Given the description of an element on the screen output the (x, y) to click on. 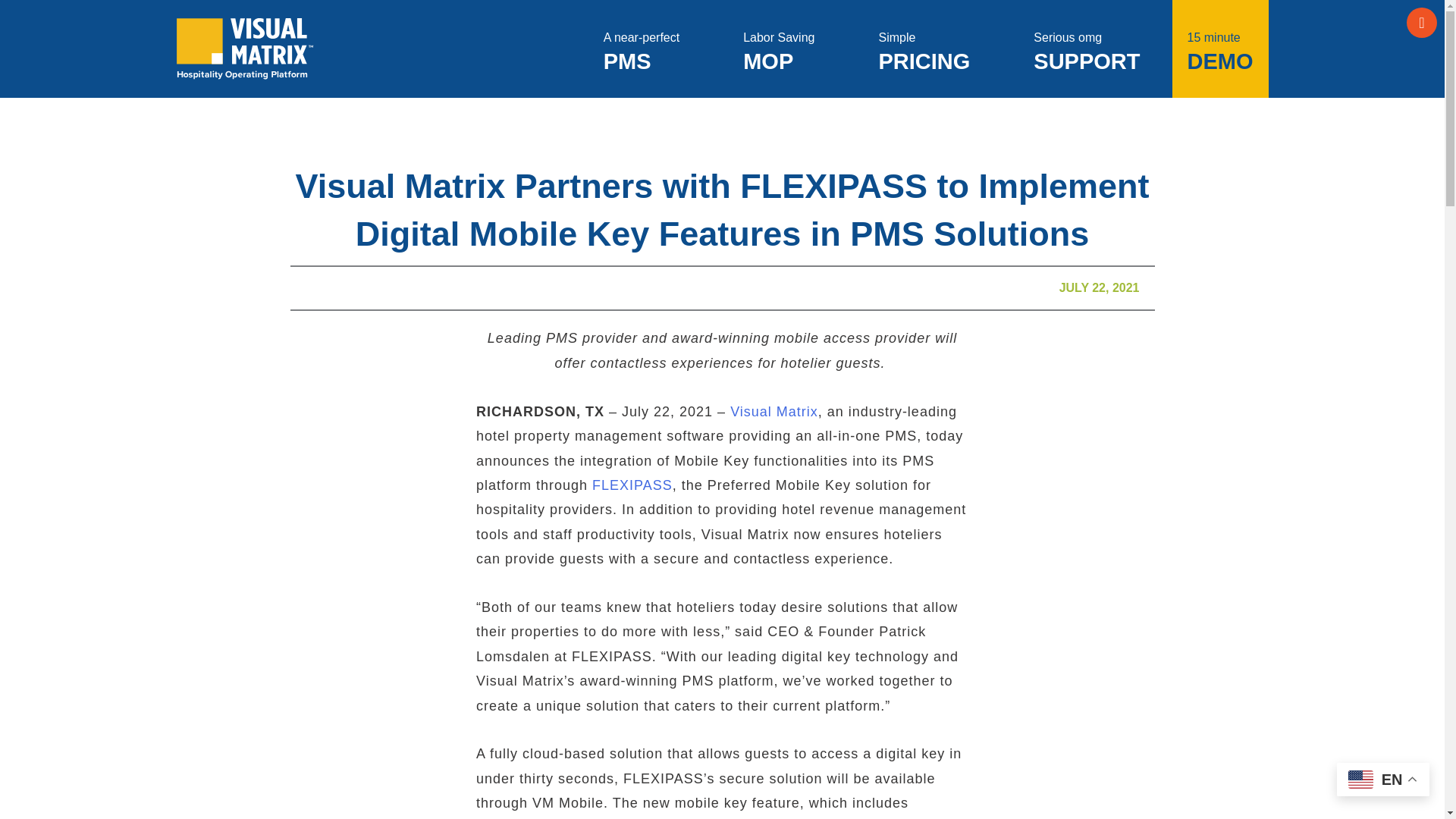
FLEXIPASS (632, 485)
Visual Matrix (923, 48)
vm-logo-tm-rev2 - Visual Matrix (1086, 48)
